Given the description of an element on the screen output the (x, y) to click on. 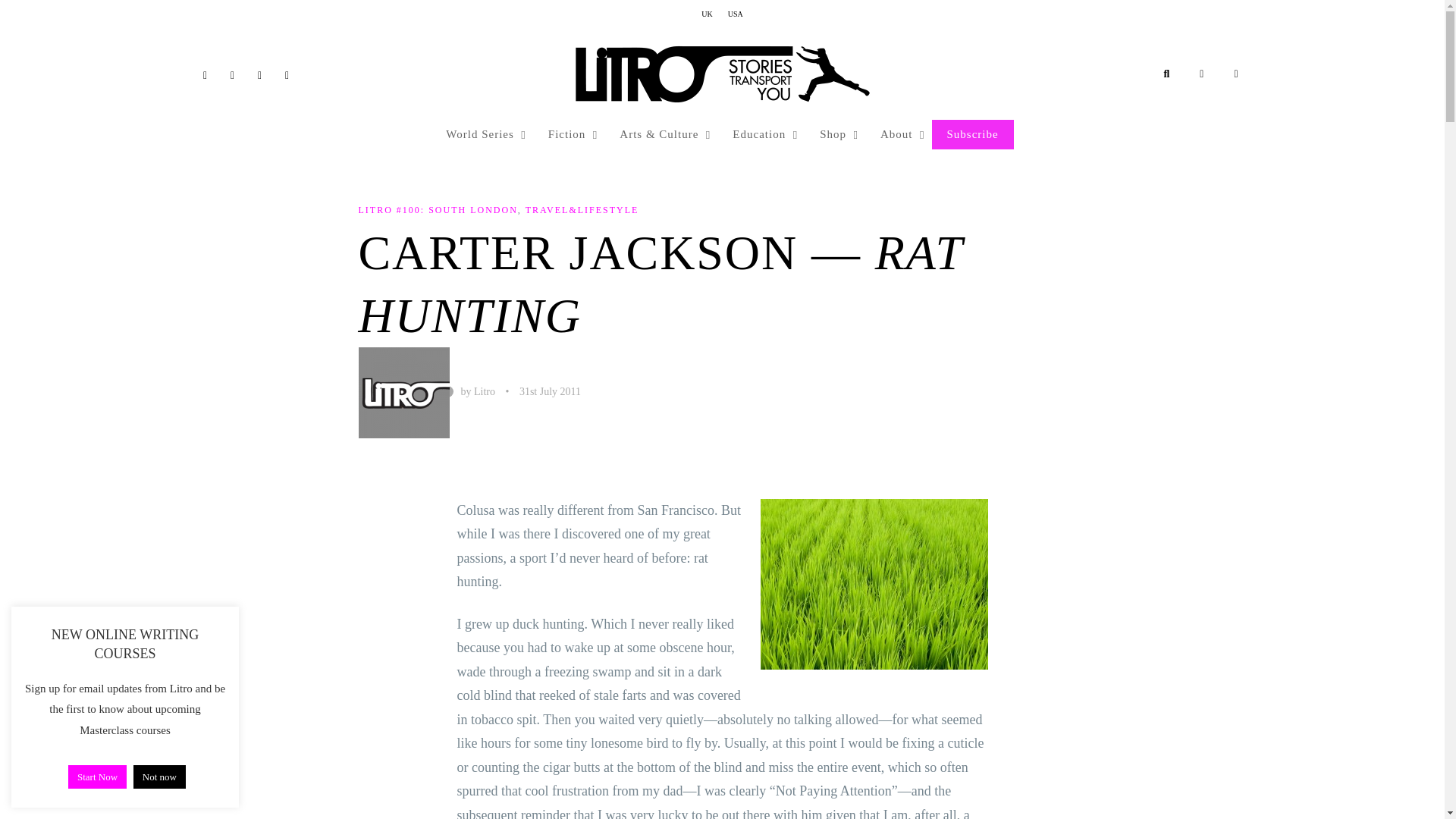
World Series (481, 134)
Posts by Litro (405, 391)
USA (735, 13)
Rat Hunting (873, 583)
View all posts by Litro (484, 391)
3:42 pm (549, 391)
Litro Magazine (722, 74)
Fiction (568, 134)
UK (706, 13)
